Given the description of an element on the screen output the (x, y) to click on. 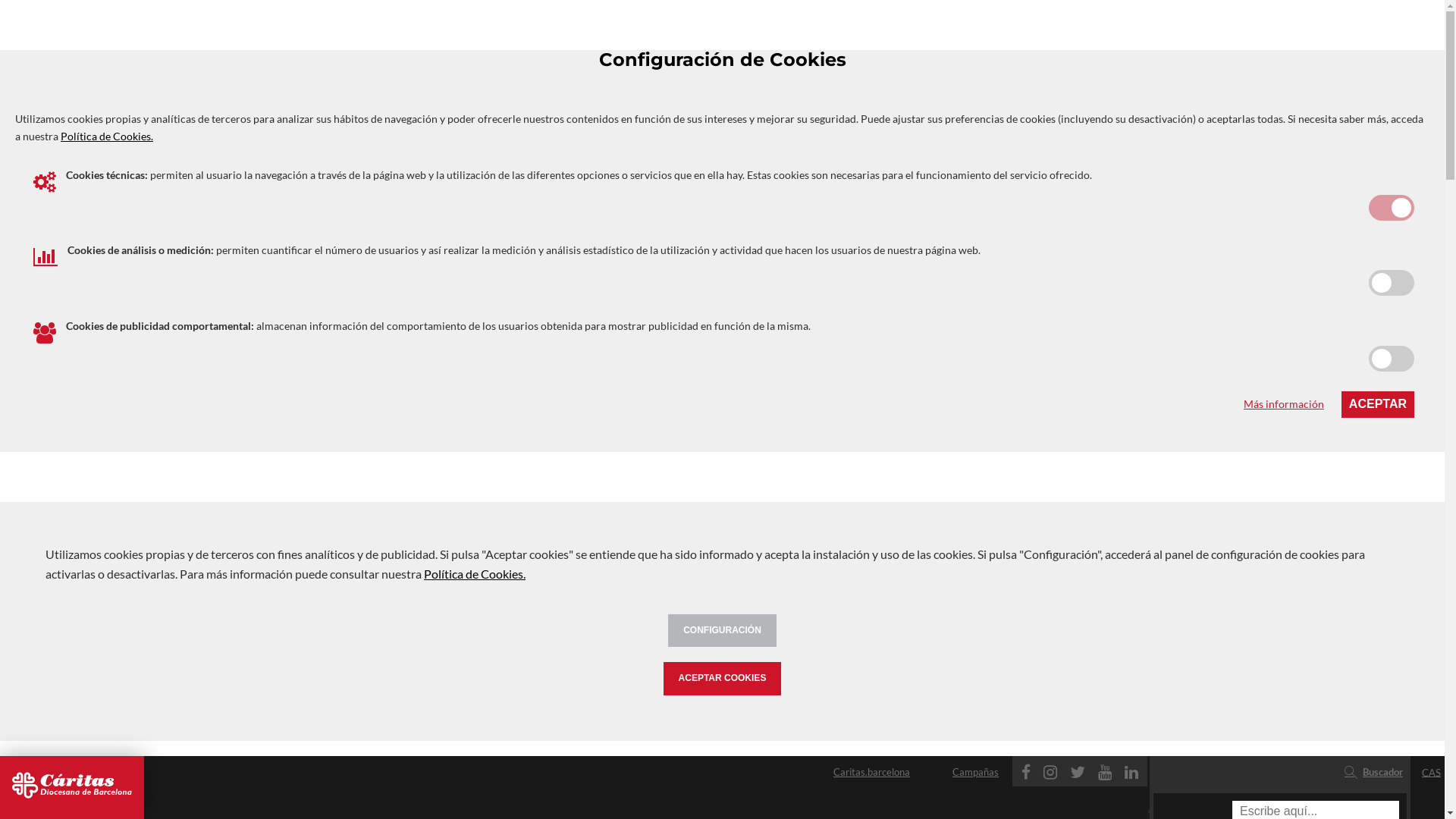
ACEPTAR Element type: text (1377, 404)
Buscador Element type: text (1373, 771)
ACEPTAR COOKIES Element type: text (722, 678)
CAS Element type: text (1431, 772)
Contacto Element type: text (598, 770)
Caritas.barcelona Element type: text (670, 770)
Caritas.barcelona Element type: text (871, 771)
